Given the description of an element on the screen output the (x, y) to click on. 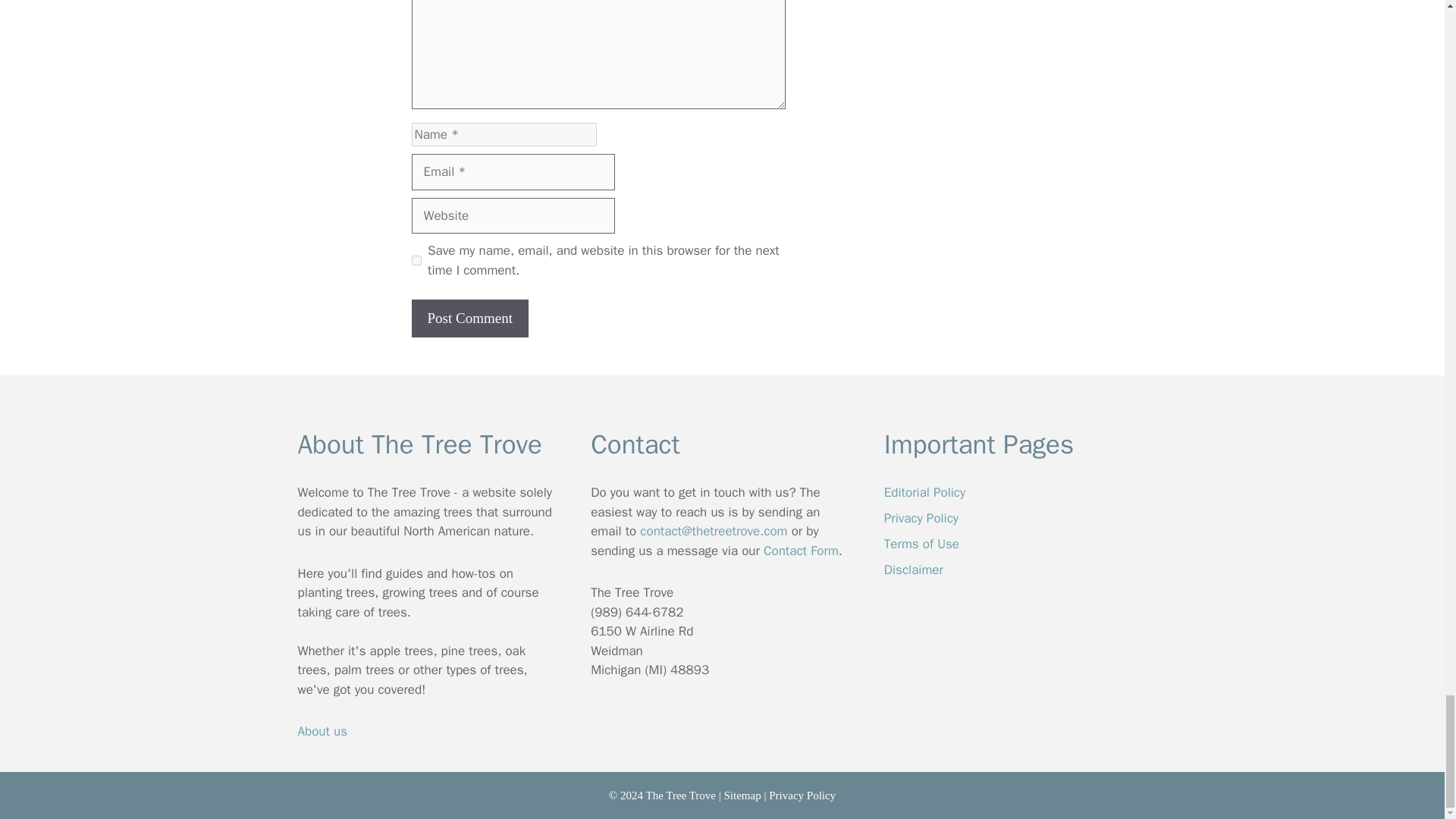
yes (415, 260)
Post Comment (468, 318)
